Given the description of an element on the screen output the (x, y) to click on. 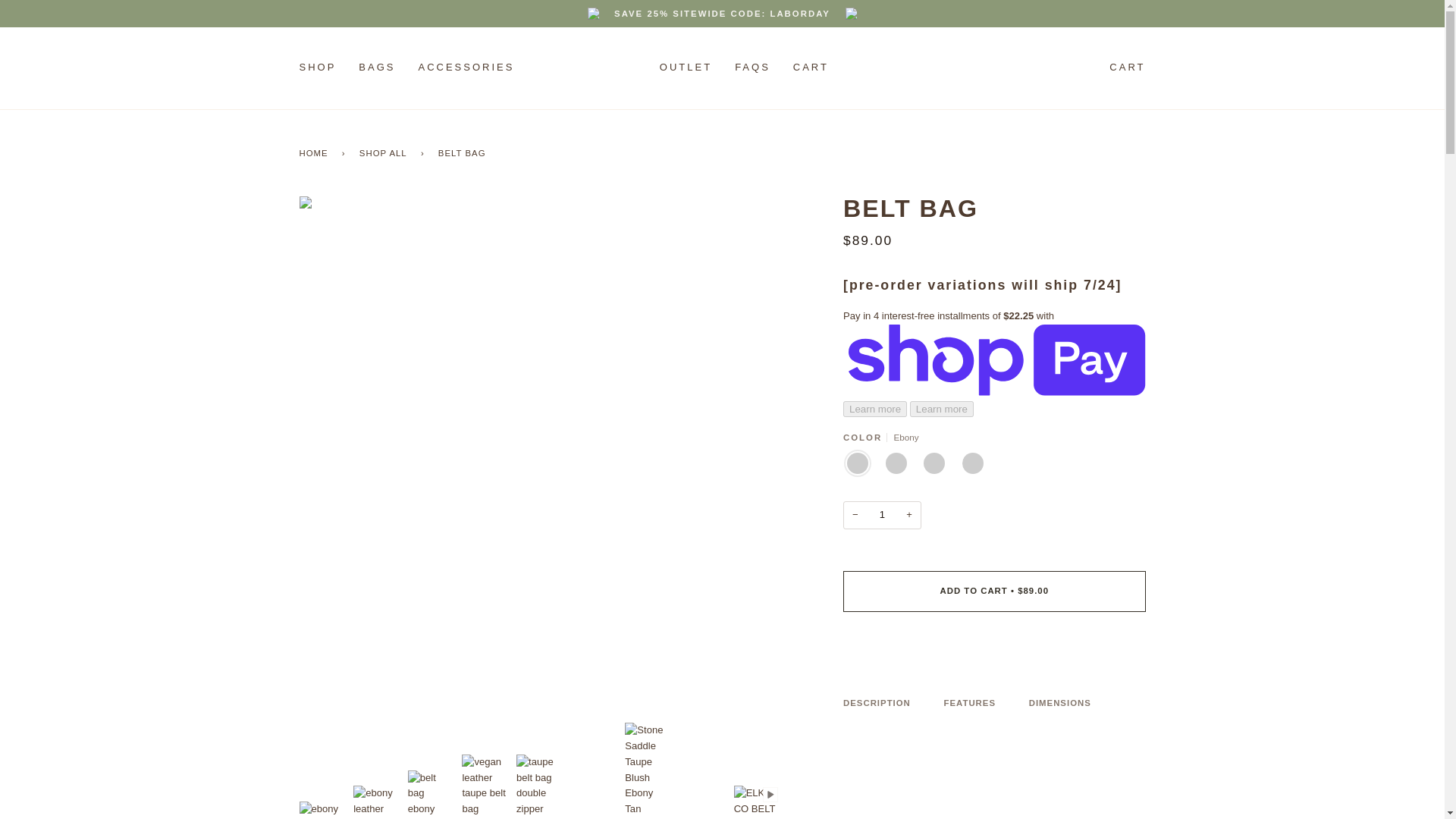
Back to the frontpage (315, 152)
1 (882, 515)
OUTLET (685, 67)
ACCESSORIES (465, 67)
SHOP ALL (385, 152)
HOME (315, 152)
